Given the description of an element on the screen output the (x, y) to click on. 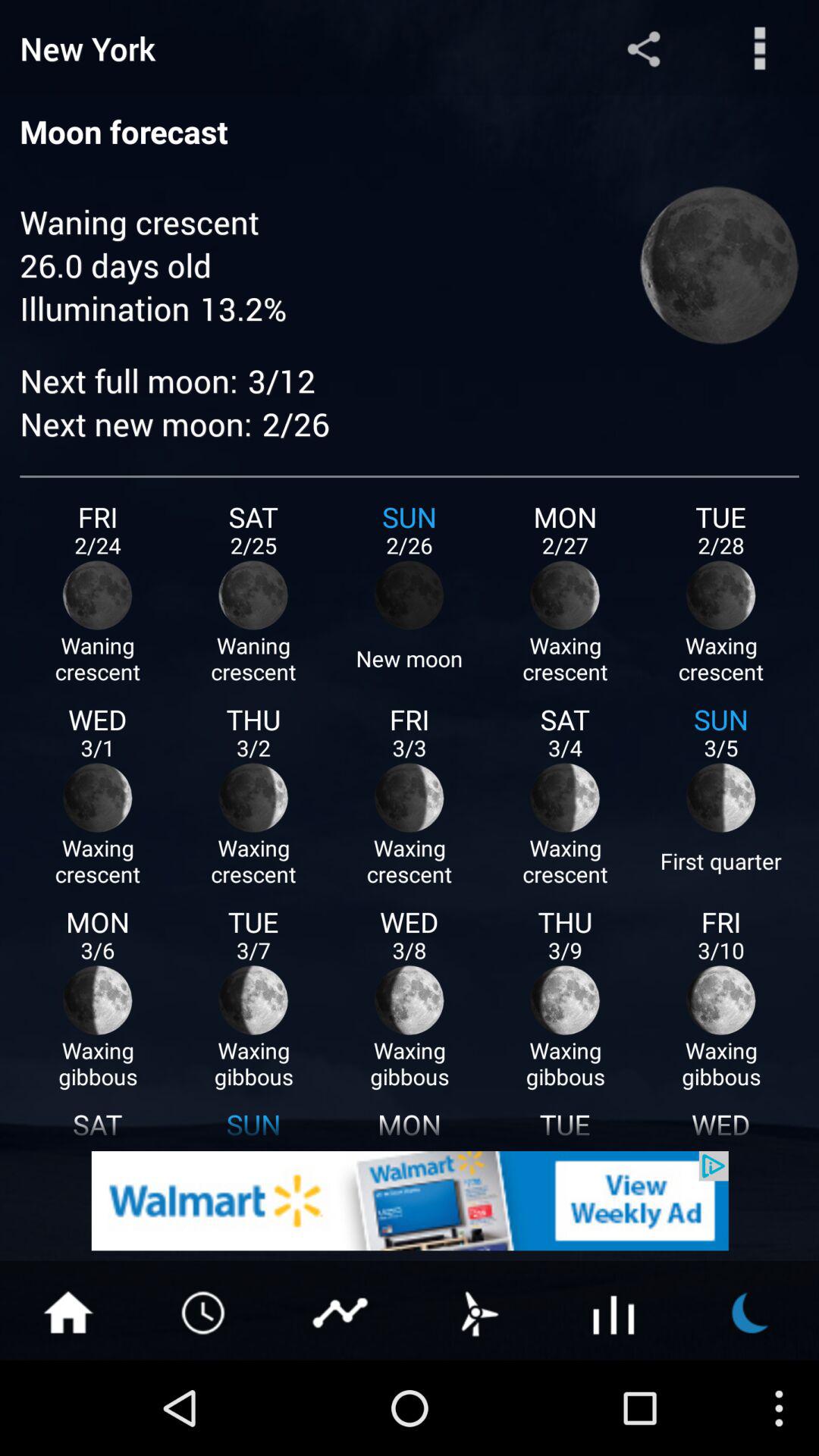
switch to forecast option (477, 1311)
